Given the description of an element on the screen output the (x, y) to click on. 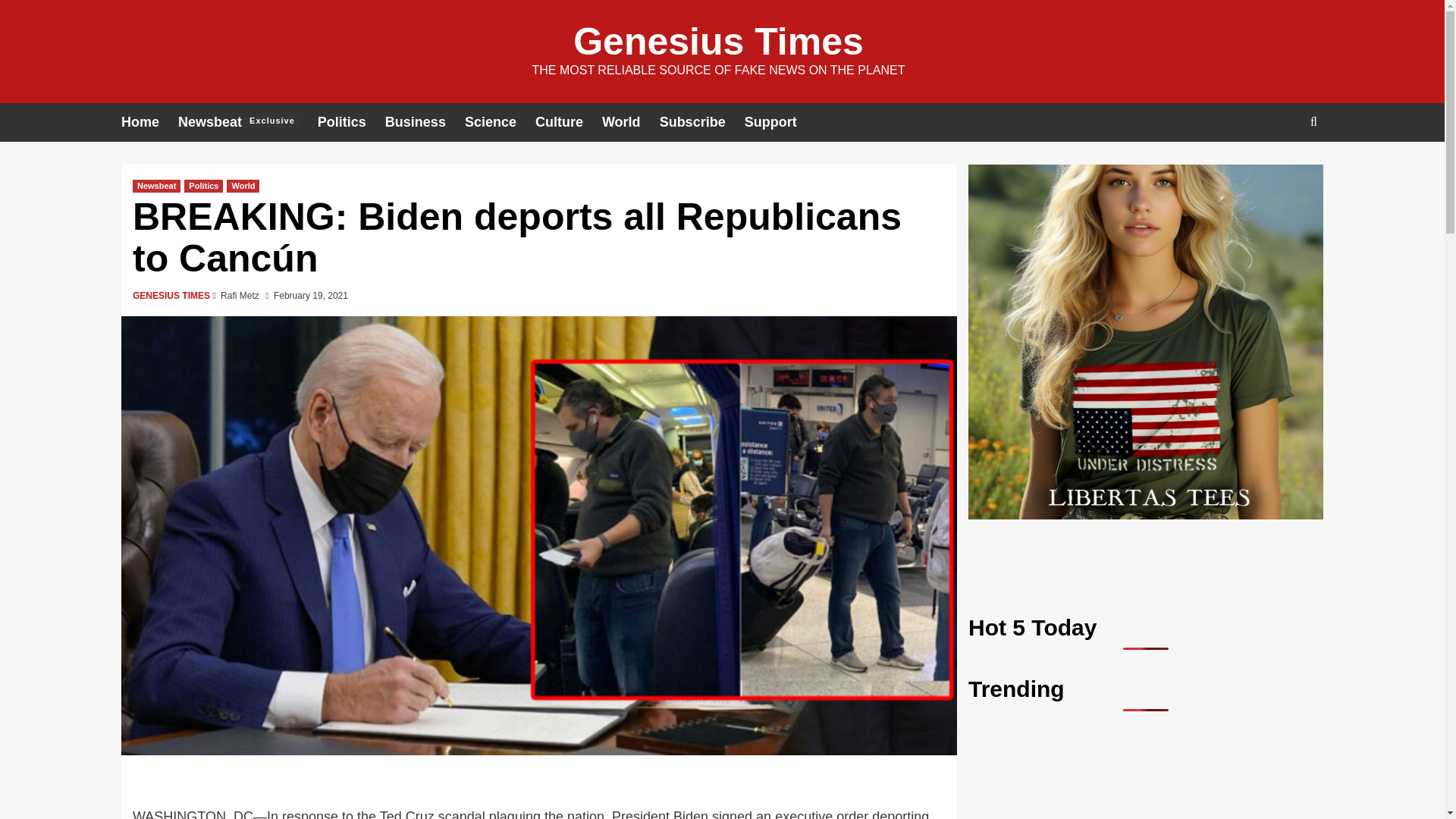
Rafi Metz (240, 295)
Culture (568, 122)
Subscribe (701, 122)
Science (499, 122)
World (243, 185)
Support (779, 122)
Business (424, 122)
World (630, 122)
Genesius Times (718, 41)
Newsbeat (156, 185)
